Given the description of an element on the screen output the (x, y) to click on. 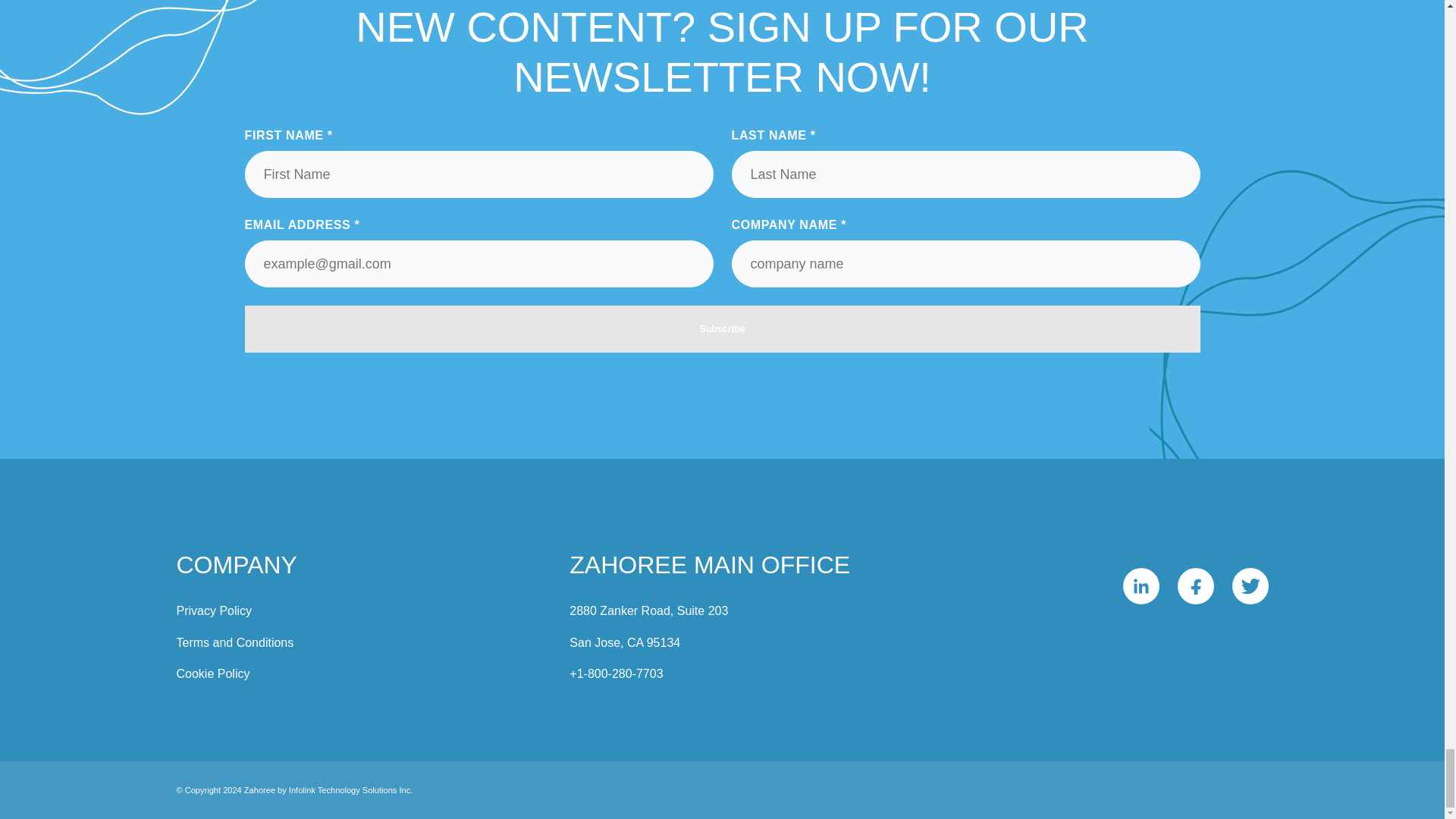
Subscribe (721, 328)
